Given the description of an element on the screen output the (x, y) to click on. 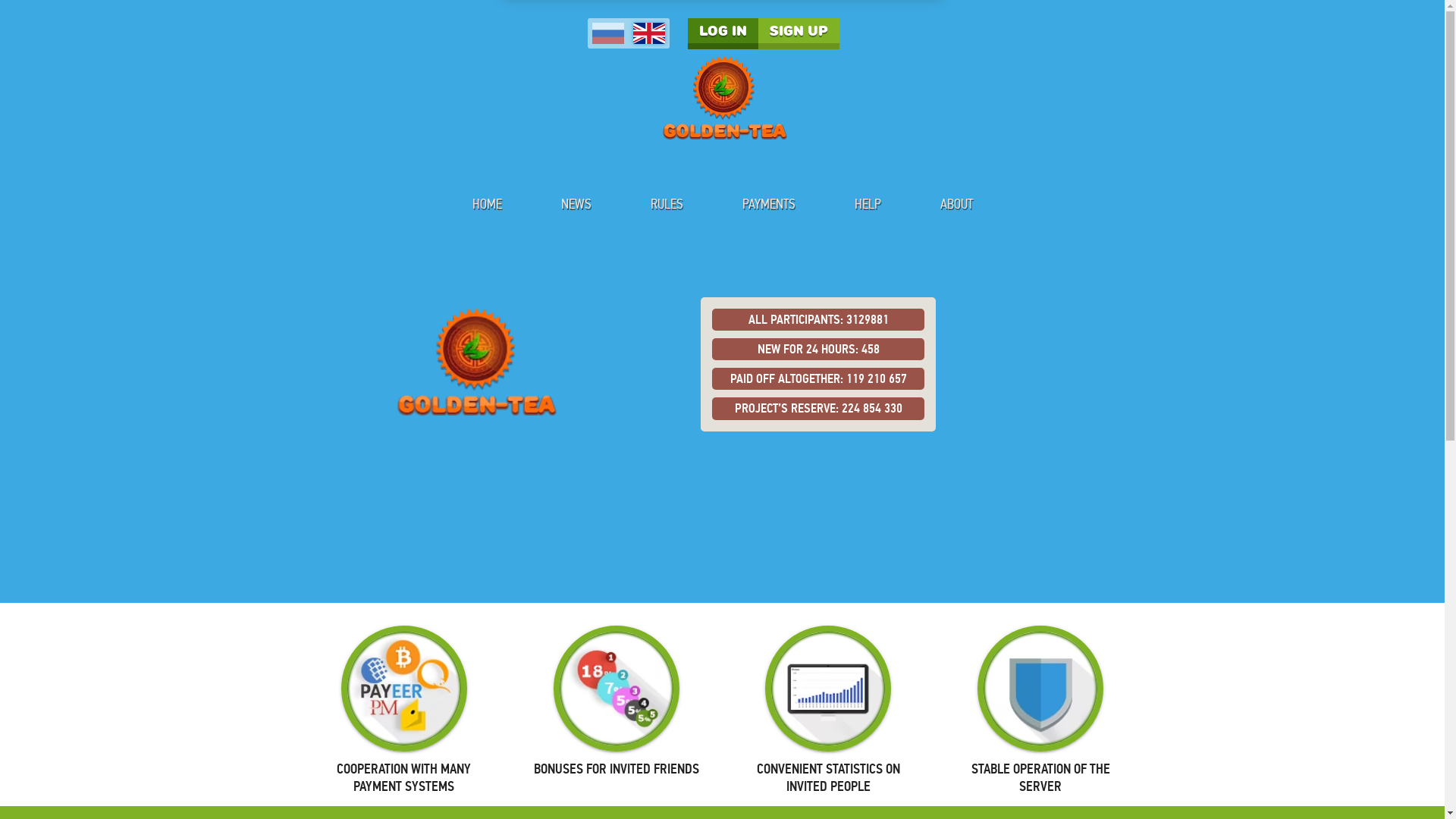
RULES (665, 204)
HELP (868, 204)
LOG IN (722, 33)
NEWS (575, 204)
HOME (486, 204)
PAYMENTS (769, 204)
ABOUT (955, 204)
Switch to English (647, 33)
SIGN UP (799, 33)
